Given the description of an element on the screen output the (x, y) to click on. 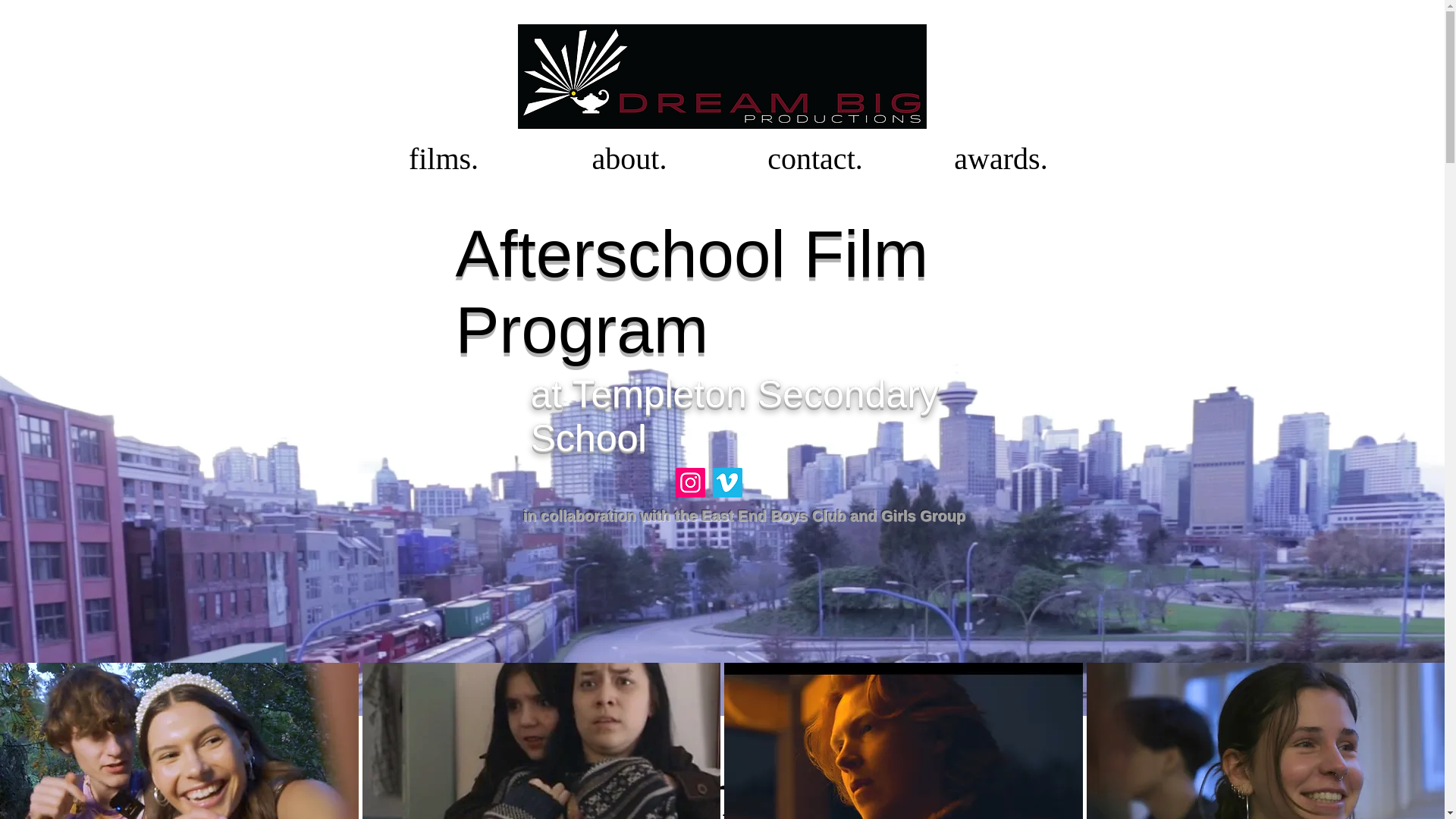
films. (442, 158)
contact. (814, 158)
about. (629, 158)
awards. (1001, 158)
